Given the description of an element on the screen output the (x, y) to click on. 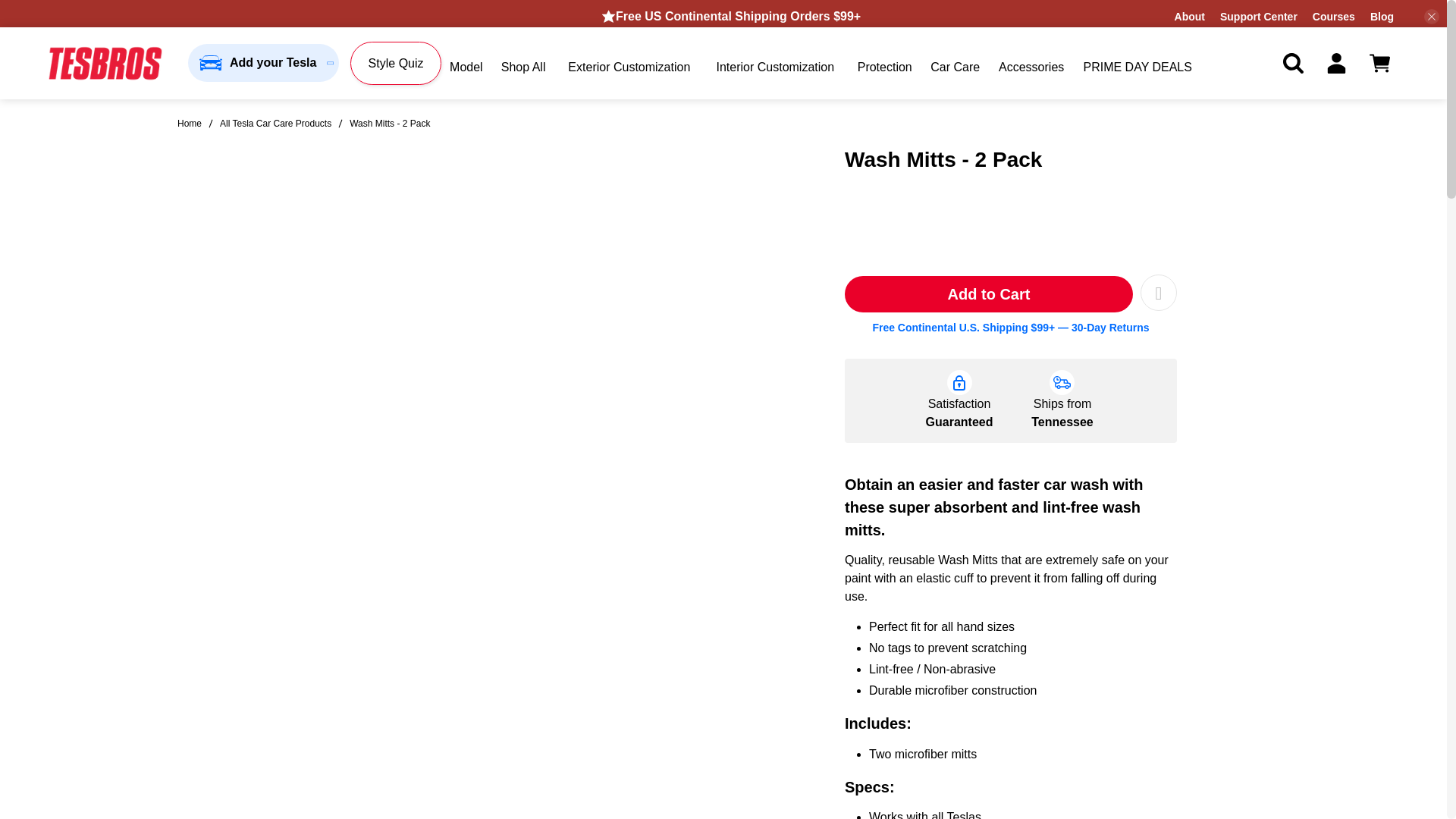
Interior Customization (775, 67)
Exterior Customization (628, 67)
Add your Tesla (263, 62)
Style Quiz (395, 63)
TESBROS (189, 122)
Support Center (1258, 16)
TESBROS (105, 63)
Shop All (523, 67)
Blog (1381, 16)
Protection (884, 67)
About (1189, 16)
Courses (1334, 16)
All Tesla Car Care Products (275, 122)
Model (466, 67)
